Given the description of an element on the screen output the (x, y) to click on. 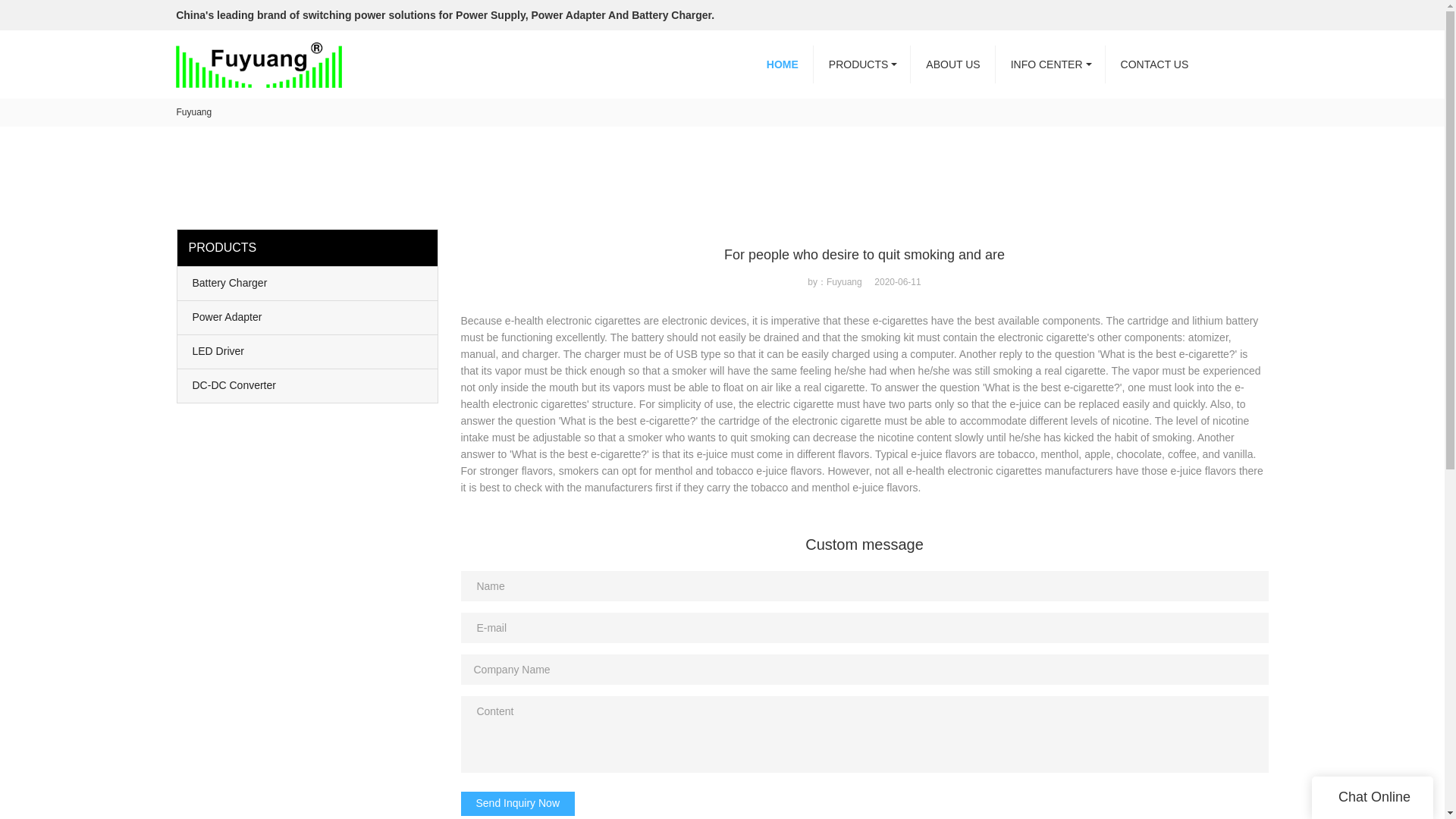
DC-DC Converter (307, 385)
Battery Charger (307, 283)
PRODUCTS (862, 64)
Fuyuang (193, 112)
LED Driver (307, 351)
CONTACT US (1154, 64)
ABOUT US (952, 64)
Power Adapter (307, 317)
Send Inquiry Now (518, 803)
INFO CENTER (1050, 64)
HOME (782, 64)
